Given the description of an element on the screen output the (x, y) to click on. 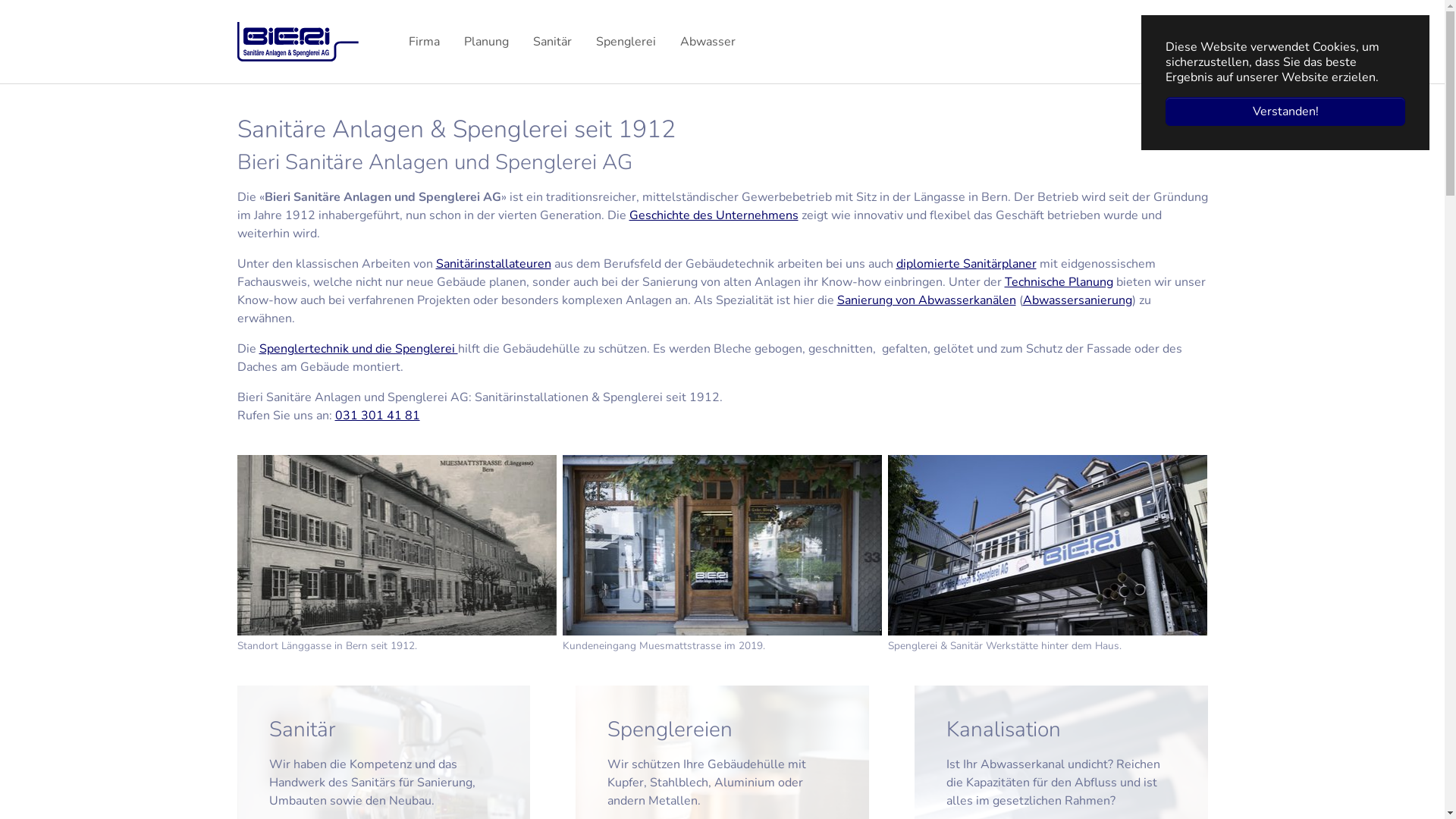
Kontakt Element type: text (1185, 41)
Spenglertechnik und die Spenglerei  Element type: text (358, 348)
Geschichte des Unternehmens Element type: text (713, 215)
031 301 41 81 Element type: text (377, 415)
Planung Element type: text (485, 41)
Spenglerei Element type: text (625, 41)
Home Element type: hover (307, 41)
Verstanden! Element type: text (1285, 111)
Standort Muesmattstrasse seit 1912 Element type: hover (395, 545)
Abwassersanierung Element type: text (1076, 299)
Technische Planung Element type: text (1058, 281)
Abwasser Element type: text (707, 41)
Firma Element type: text (423, 41)
